Given the description of an element on the screen output the (x, y) to click on. 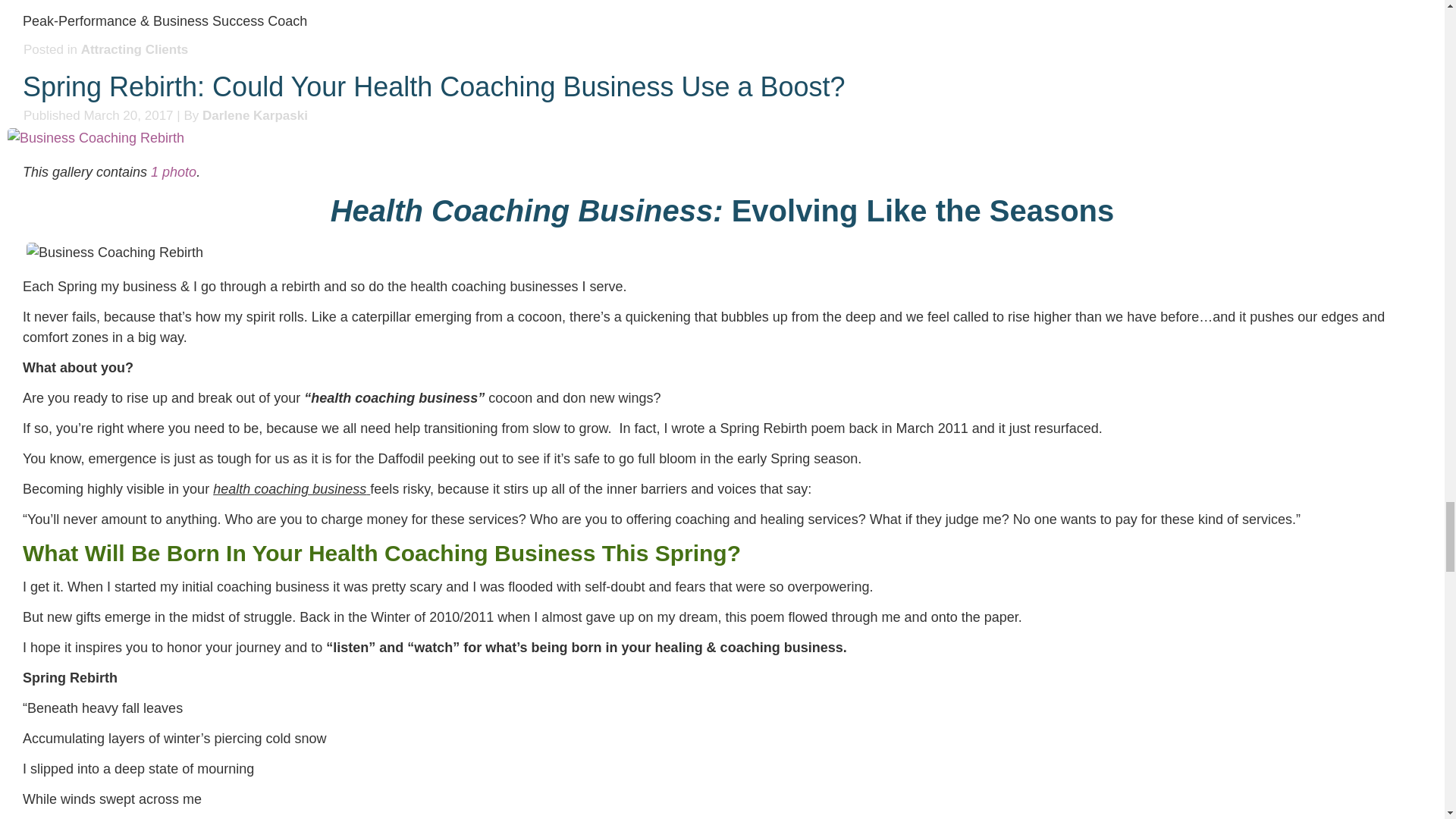
1 photo (173, 171)
Darlene Karpaski (254, 115)
Attracting Clients (135, 49)
